Given the description of an element on the screen output the (x, y) to click on. 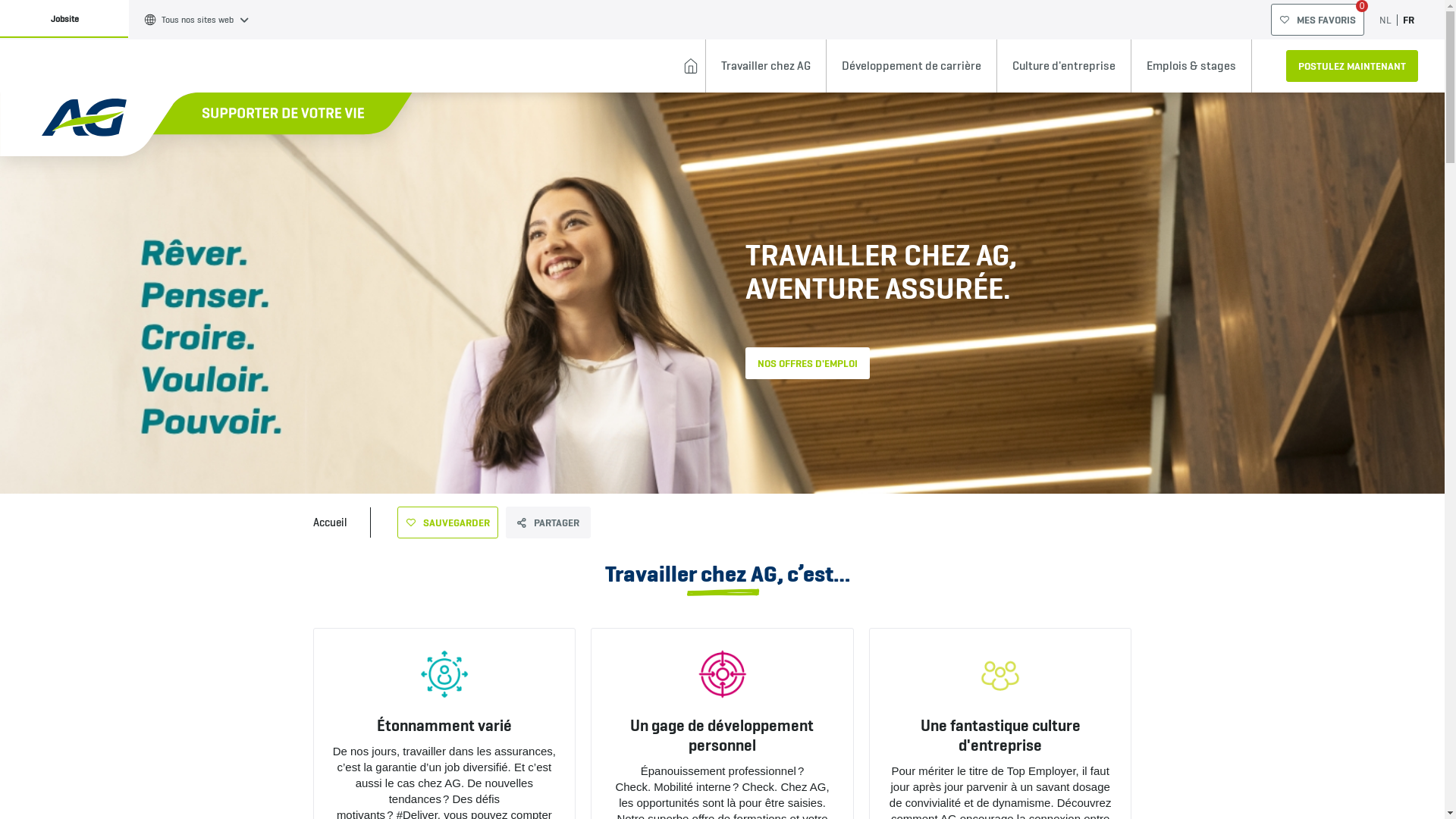
SAUVEGARDER Element type: text (447, 522)
POSTULEZ MAINTENANT Element type: text (1352, 65)
PARTAGER Element type: text (547, 522)
FR Element type: text (1408, 19)
  Element type: text (690, 65)
MES FAVORIS Element type: text (1317, 19)
Jobsite Element type: text (64, 18)
NL Element type: text (1385, 19)
NOS OFFRES D'EMPLOI Element type: text (806, 363)
